Given the description of an element on the screen output the (x, y) to click on. 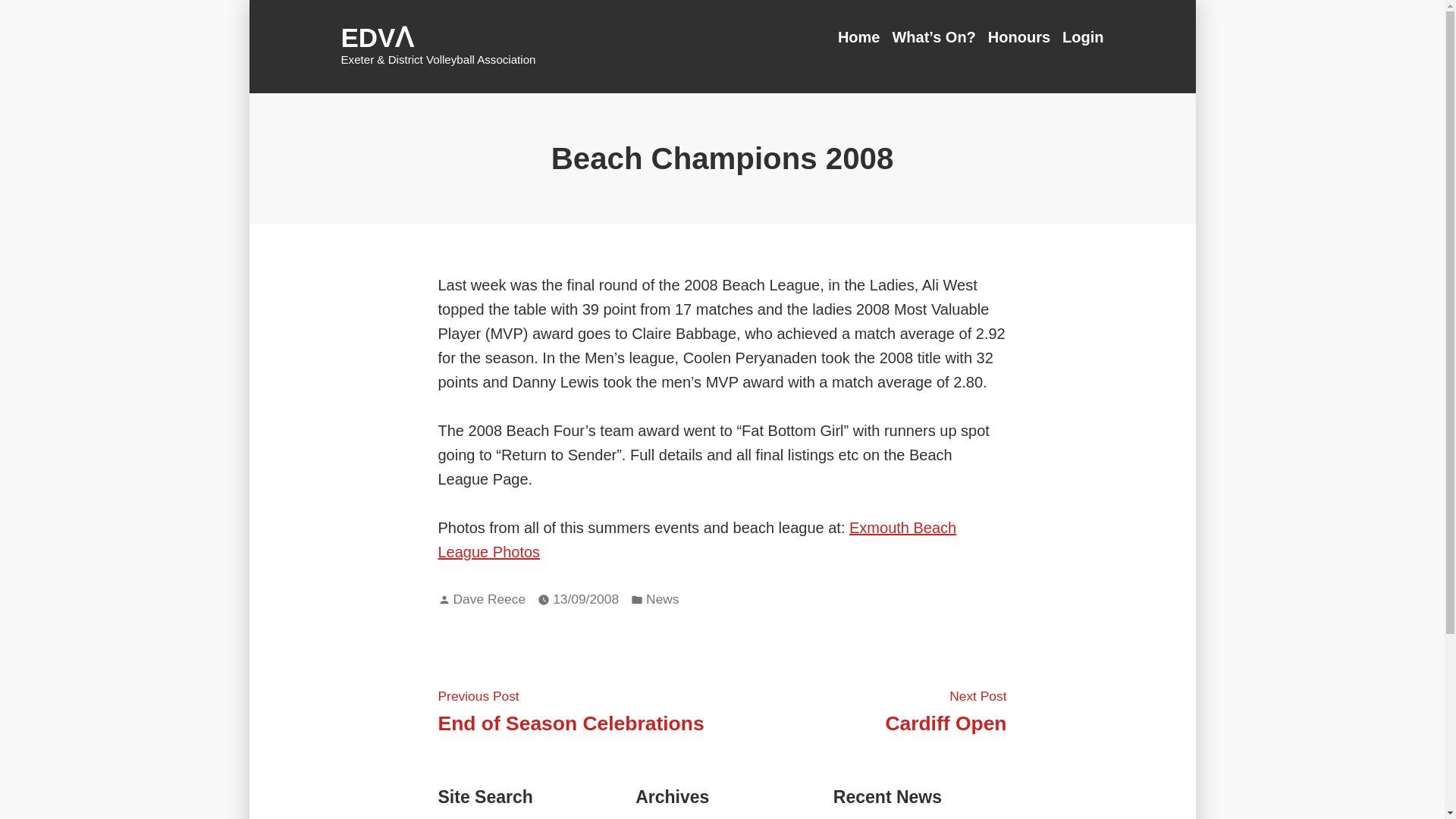
Home (862, 37)
Login (1080, 37)
Home (945, 710)
Exmouth Beach League Photos (862, 37)
Dave Reece (571, 710)
Honours (697, 539)
News (488, 598)
on (1019, 37)
